Given the description of an element on the screen output the (x, y) to click on. 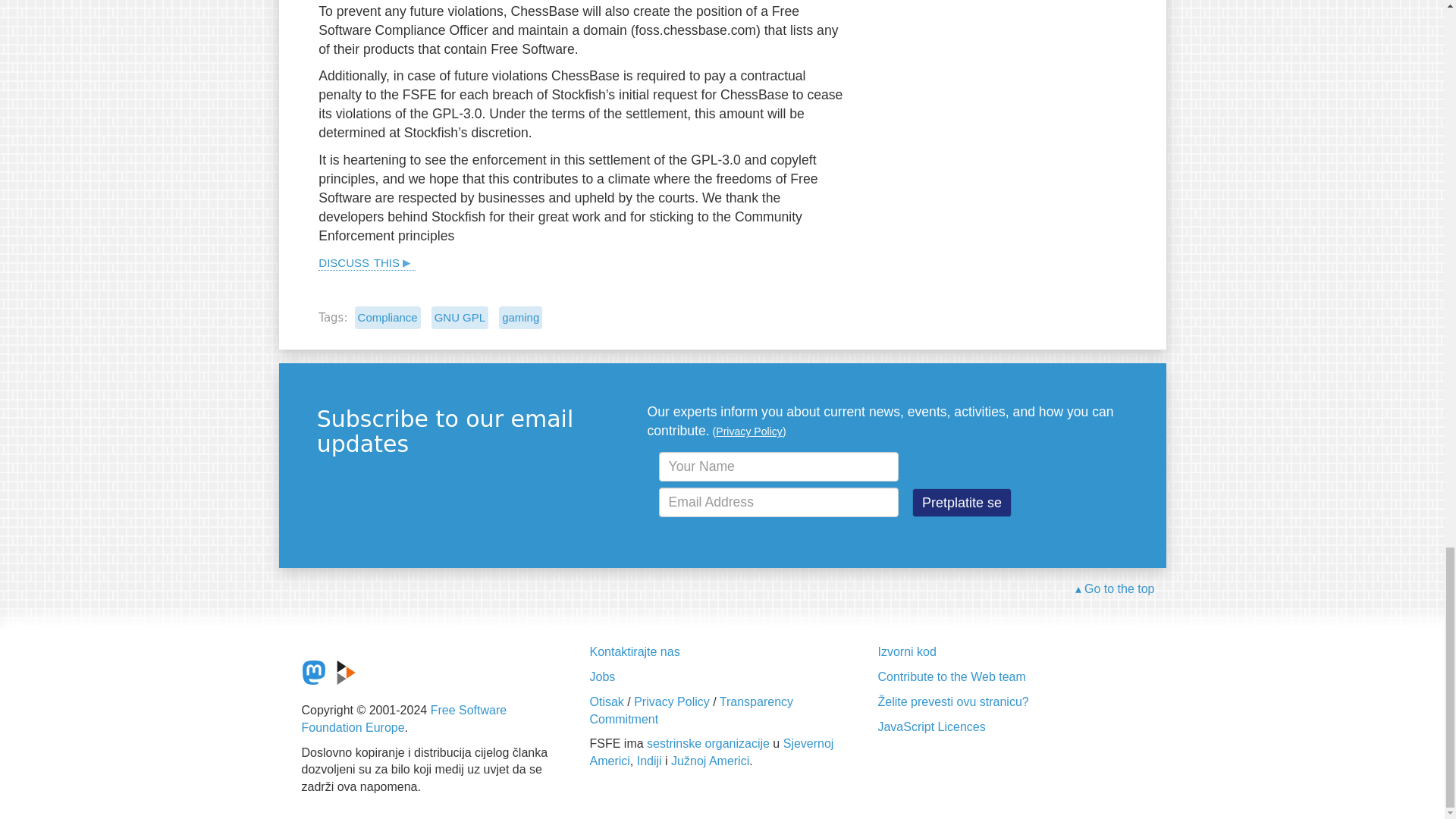
Peertube (345, 672)
Pretplatite se (961, 502)
Go to the top (1114, 589)
Kontaktirajte nas (634, 651)
discuss this (366, 261)
Compliance (387, 317)
Mastodon (313, 672)
GNU GPL (458, 317)
Free Software Foundation Europe (403, 718)
Pretplatite se (961, 502)
gaming (520, 317)
Privacy Policy (749, 431)
